Given the description of an element on the screen output the (x, y) to click on. 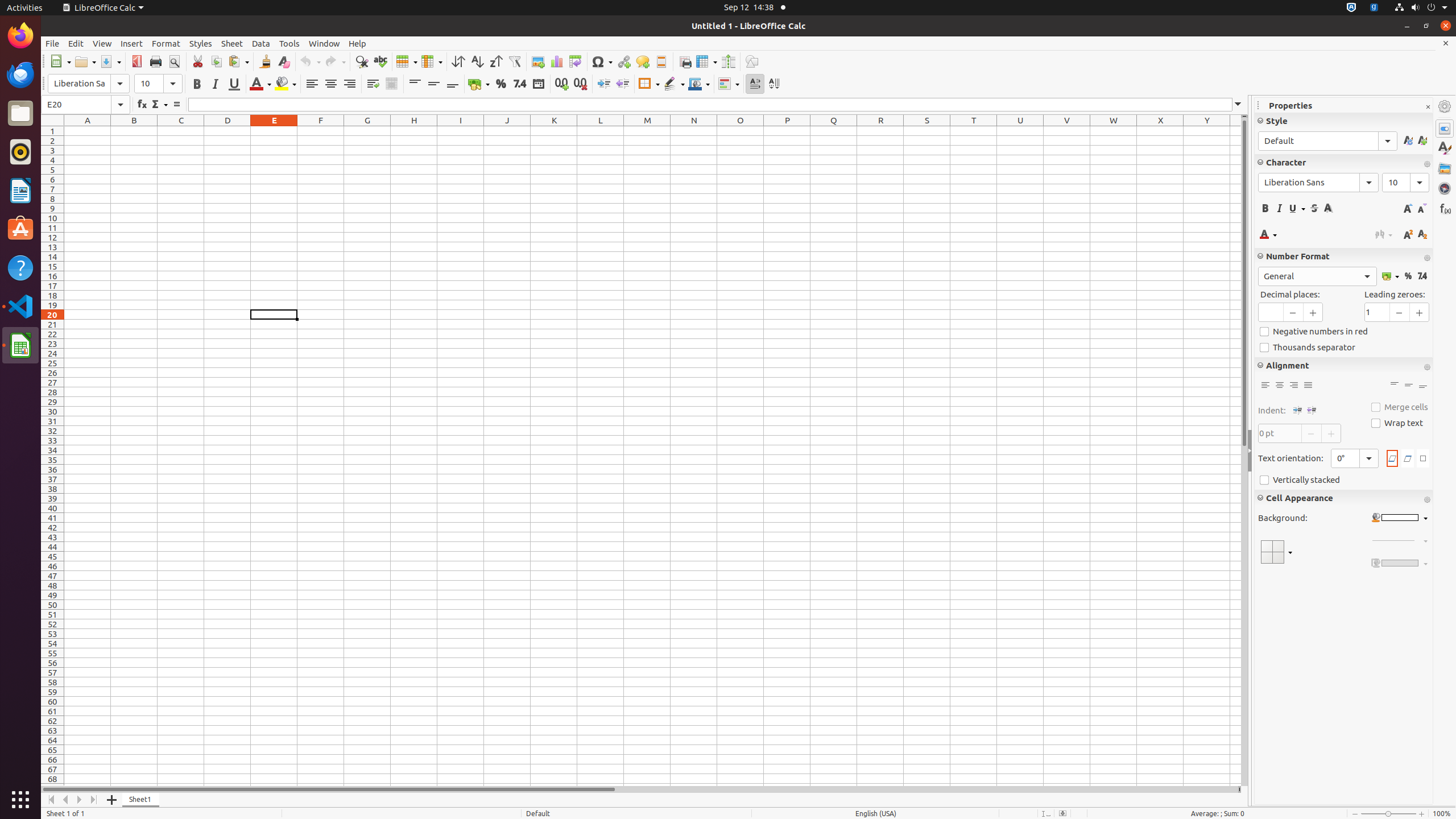
Clone Element type: push-button (264, 61)
Center Vertically Element type: toggle-button (1408, 385)
Draw Functions Element type: toggle-button (751, 61)
Pivot Table Element type: push-button (574, 61)
Percent Element type: push-button (500, 83)
